Given the description of an element on the screen output the (x, y) to click on. 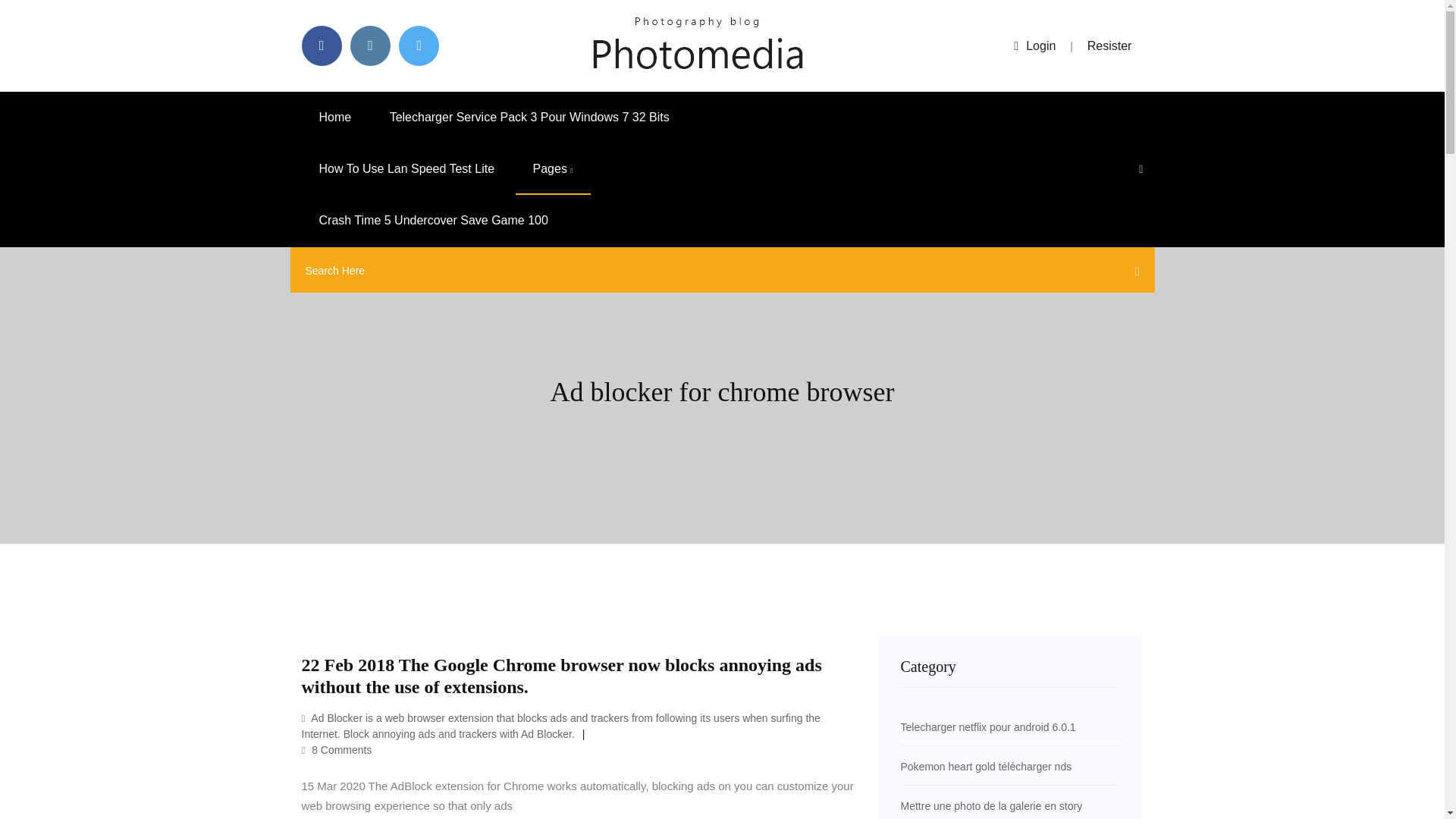
Pages (553, 168)
Telecharger Service Pack 3 Pour Windows 7 32 Bits (529, 117)
8 Comments (336, 749)
Home (335, 117)
Resister (1109, 45)
Login (1034, 45)
Crash Time 5 Undercover Save Game 100 (433, 220)
How To Use Lan Speed Test Lite (406, 168)
